Given the description of an element on the screen output the (x, y) to click on. 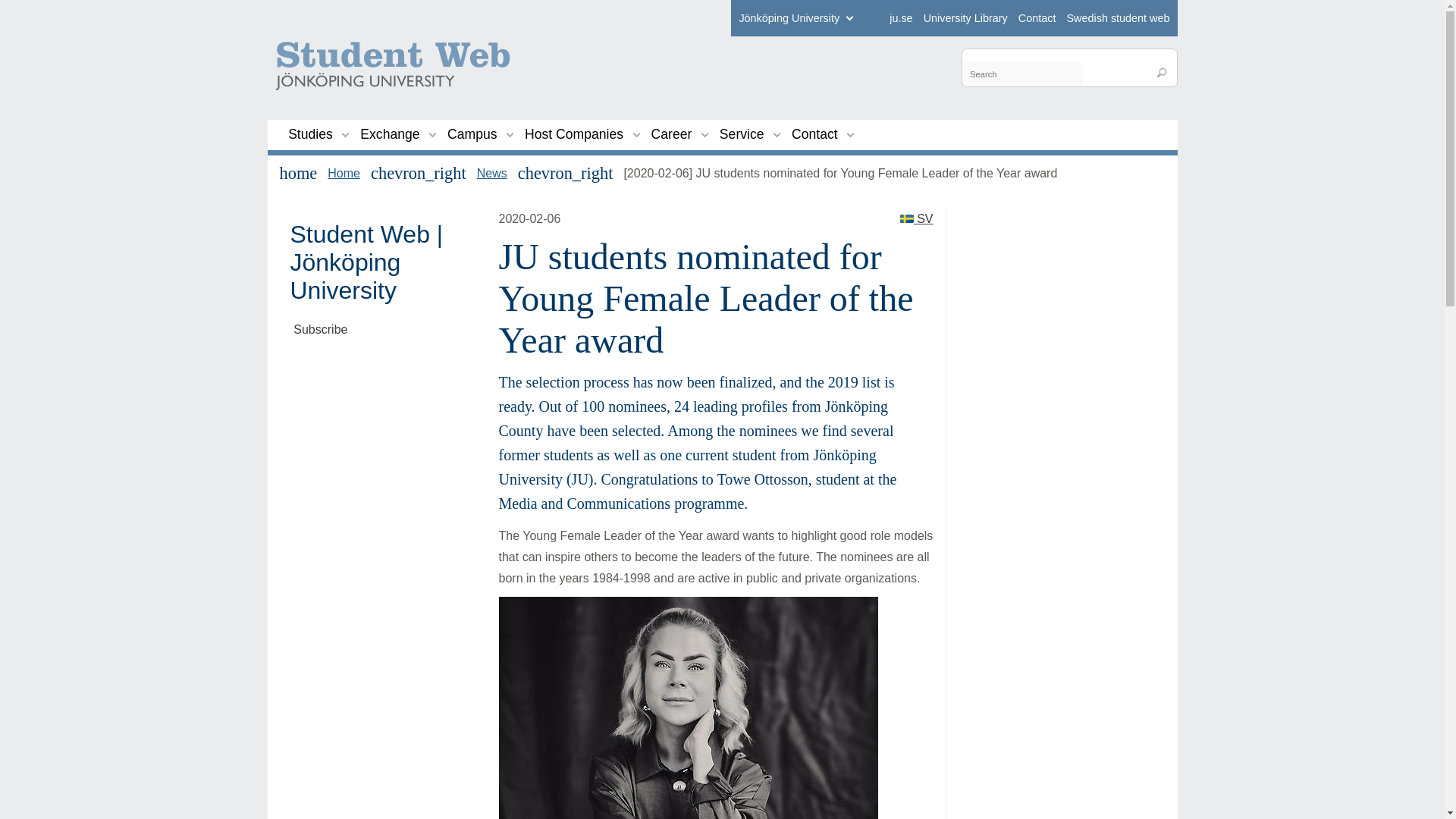
Studies (310, 134)
Swedish student web (1117, 18)
ju.se (900, 18)
University Library (965, 18)
Search (1162, 73)
Search (1162, 73)
Search (1162, 73)
Expand submenu for Studies (345, 133)
Expand submenu for Exchange (432, 133)
Contact (1037, 18)
